Given the description of an element on the screen output the (x, y) to click on. 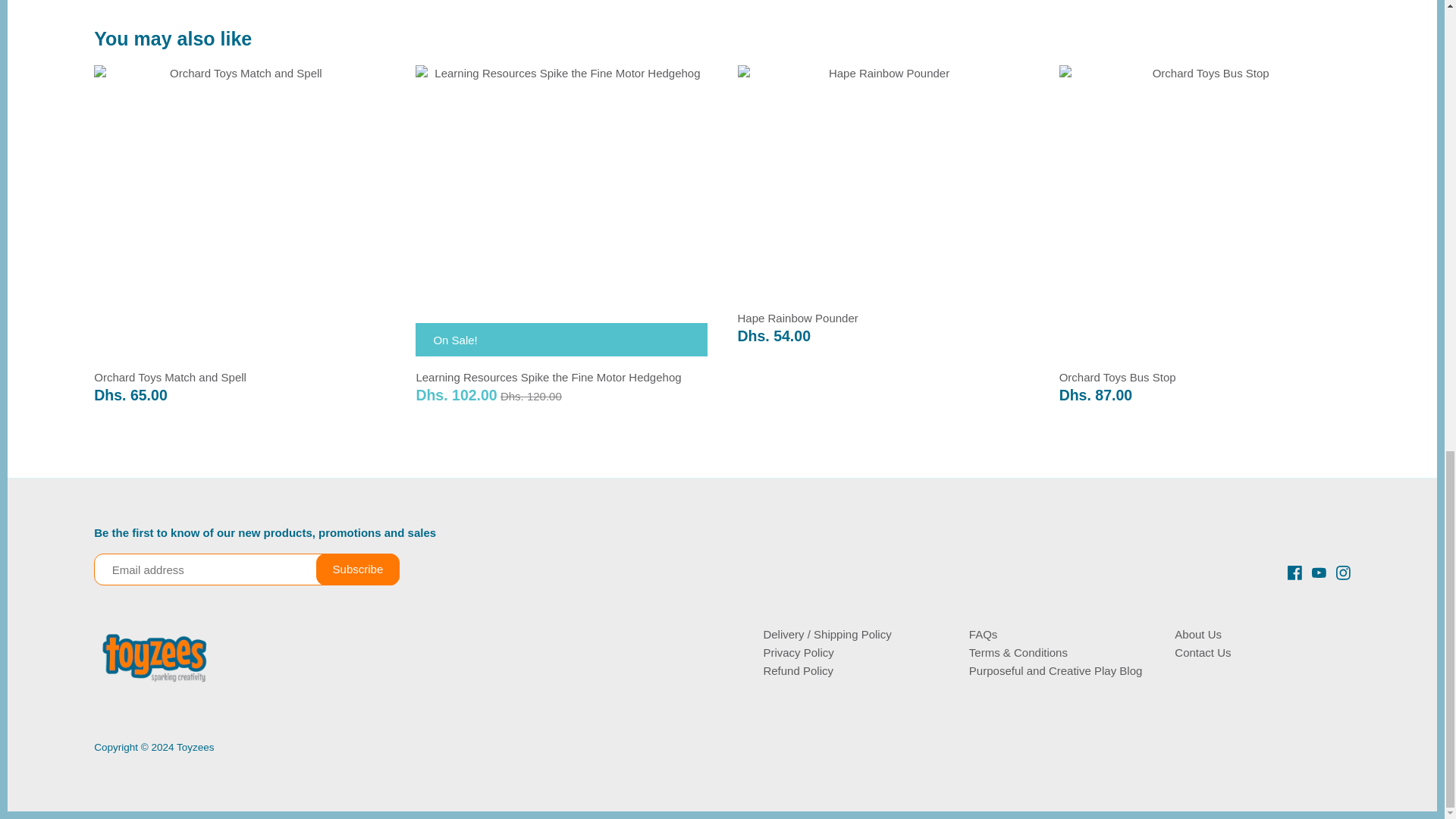
Instagram (1343, 571)
Youtube (1318, 571)
Youtube (1318, 572)
Facebook (1294, 571)
Instagram (1342, 572)
Facebook (1294, 572)
Subscribe (357, 569)
